Given the description of an element on the screen output the (x, y) to click on. 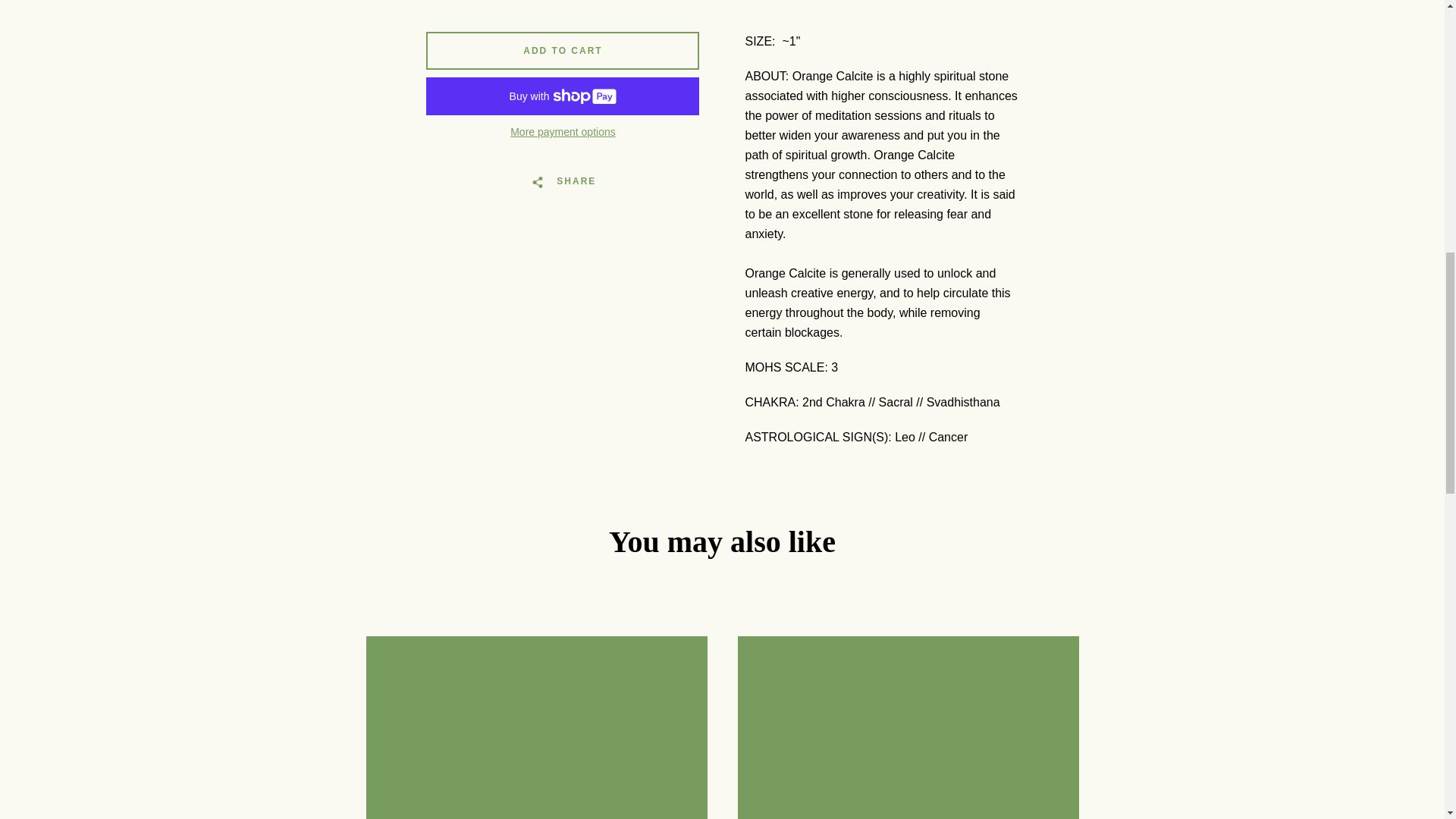
SHARE (563, 181)
More payment options (562, 132)
ADD TO CART (562, 50)
